Given the description of an element on the screen output the (x, y) to click on. 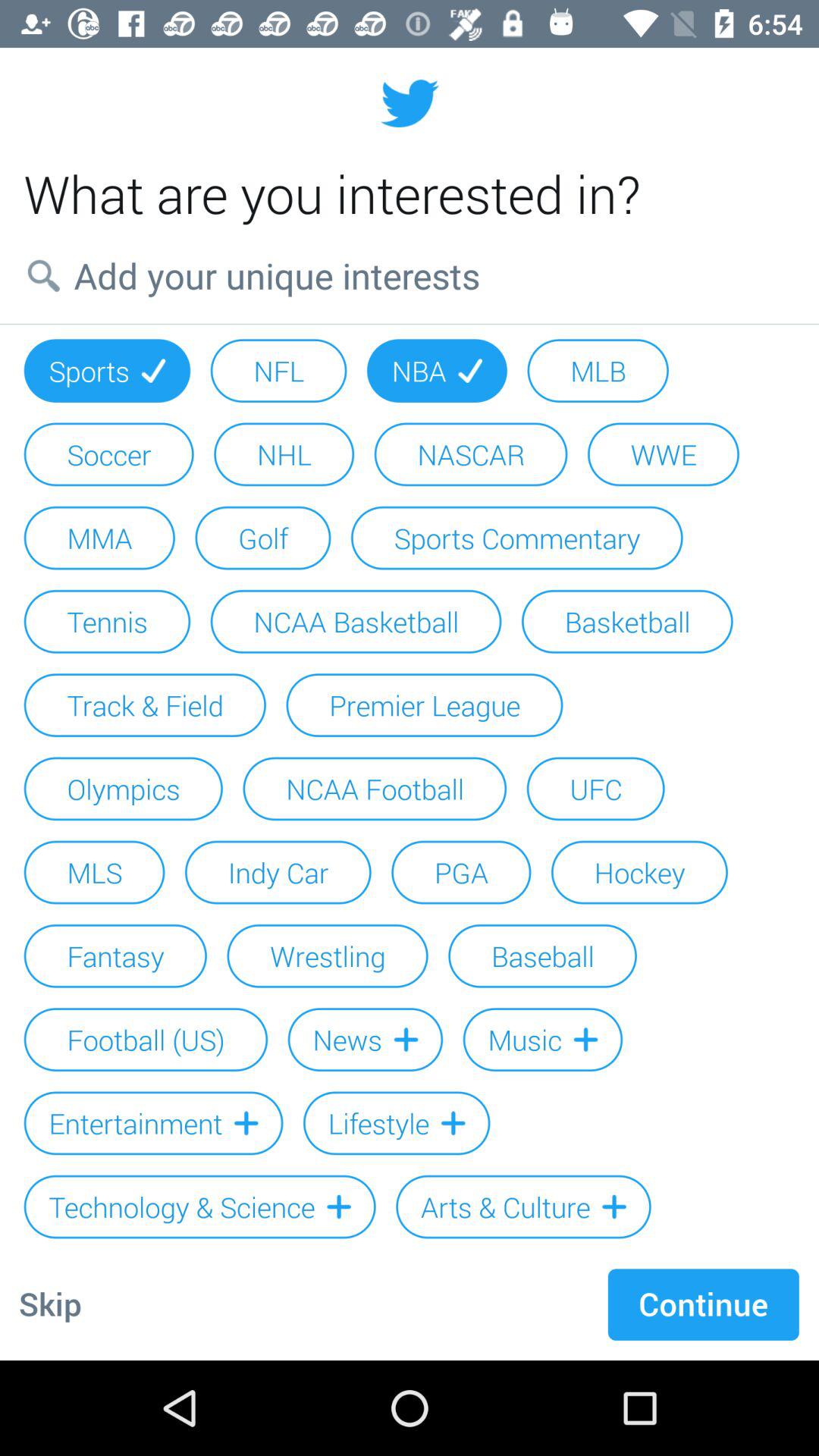
select icon to the left of continue icon (49, 1304)
